Given the description of an element on the screen output the (x, y) to click on. 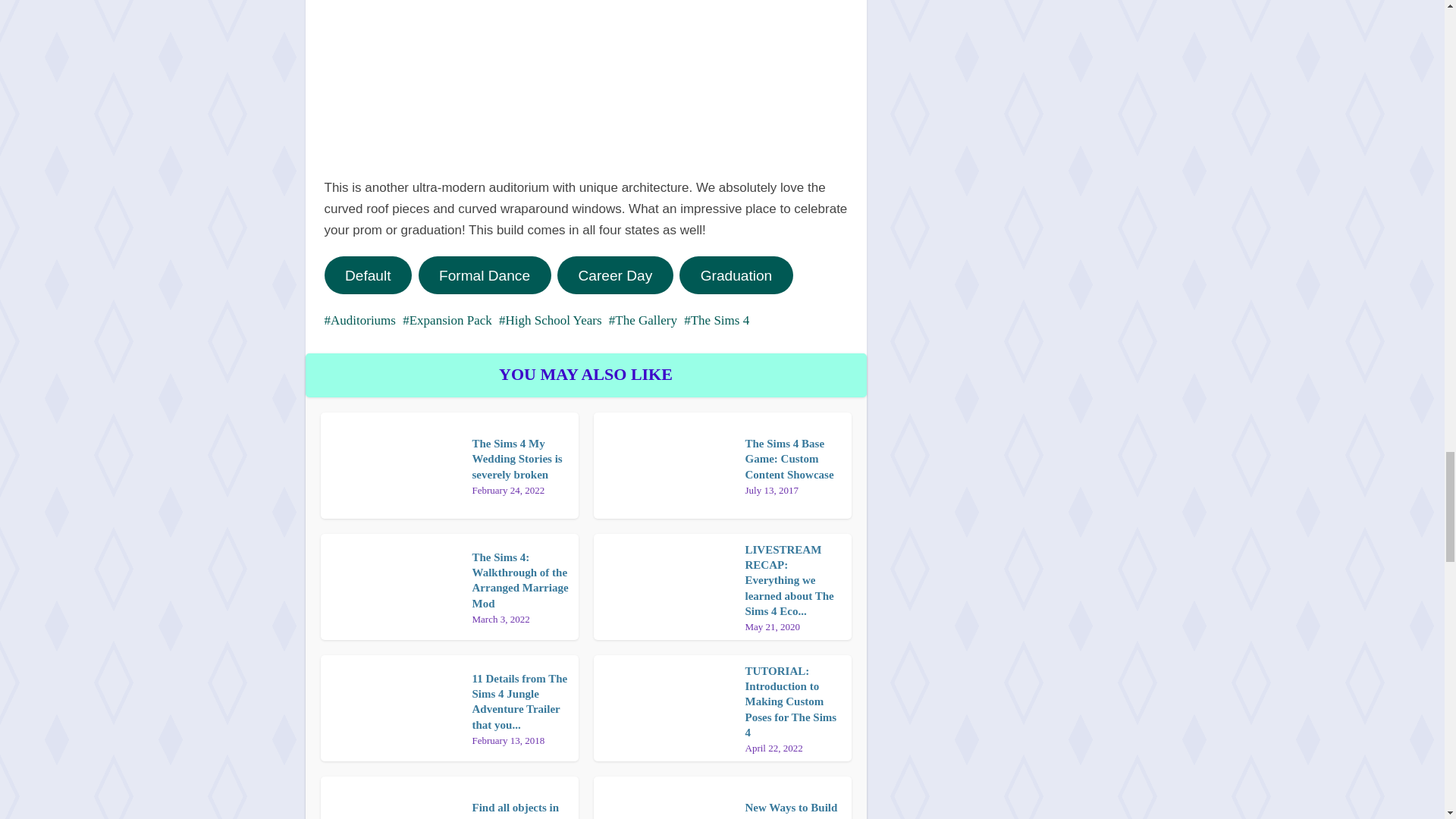
Download New Auditorium Builds for The Sims 4 High School! 6 (585, 77)
The Sims 4 Base Game: Custom Content Showcase 8 (662, 465)
The Sims 4 My Wedding Stories is severely broken (516, 458)
The Sims 4: Walkthrough of the Arranged Marriage Mod 9 (389, 586)
The Sims 4 My Wedding Stories is severely broken 7 (519, 580)
